Given the description of an element on the screen output the (x, y) to click on. 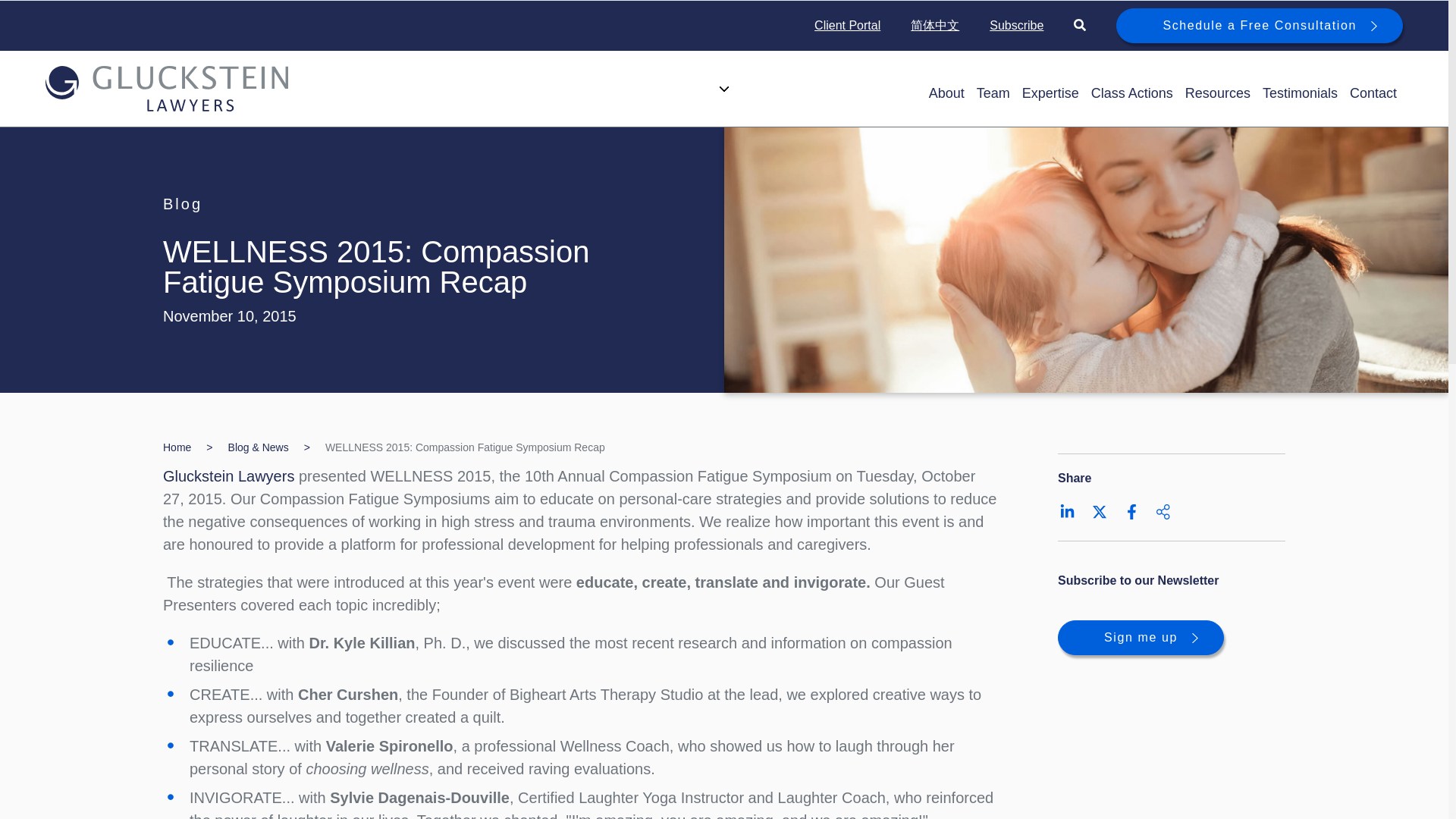
Share This (1163, 511)
Share on Twitter (1099, 511)
Share on Facebook (1131, 511)
Share on LinkedIn (1067, 511)
